Given the description of an element on the screen output the (x, y) to click on. 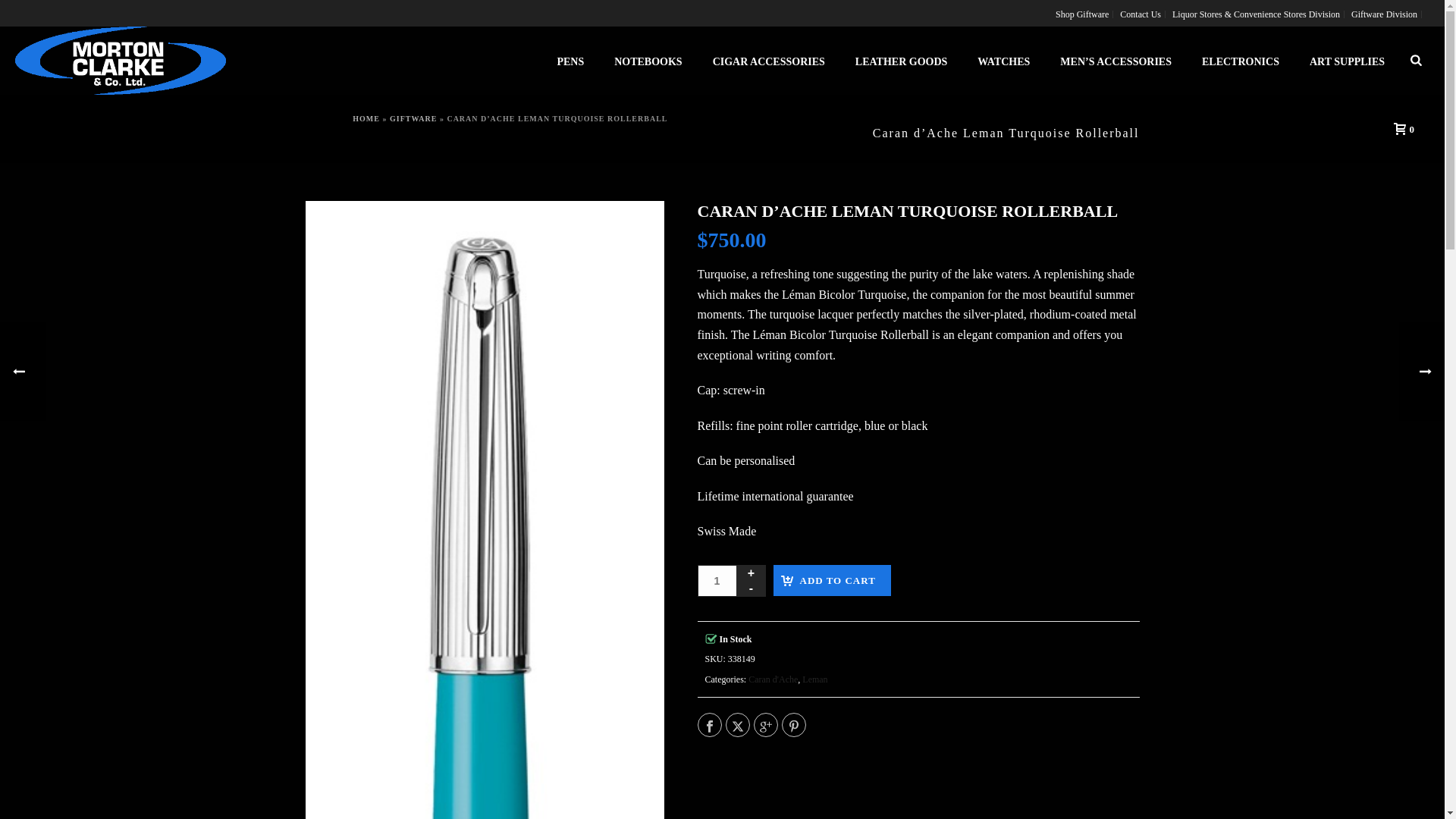
NOTEBOOKS (647, 60)
1 (716, 581)
ELECTRONICS (1240, 60)
Shop Giftware (1082, 14)
ART SUPPLIES (1346, 60)
WATCHES (1003, 60)
WATCHES (1003, 60)
CIGAR ACCESSORIES (768, 60)
- (750, 588)
Morton Clarke Giftware (119, 60)
NOTEBOOKS (647, 60)
CIGAR ACCESSORIES (768, 60)
LEATHER GOODS (901, 60)
Giftware Division (1385, 14)
Contact Us (1141, 14)
